Given the description of an element on the screen output the (x, y) to click on. 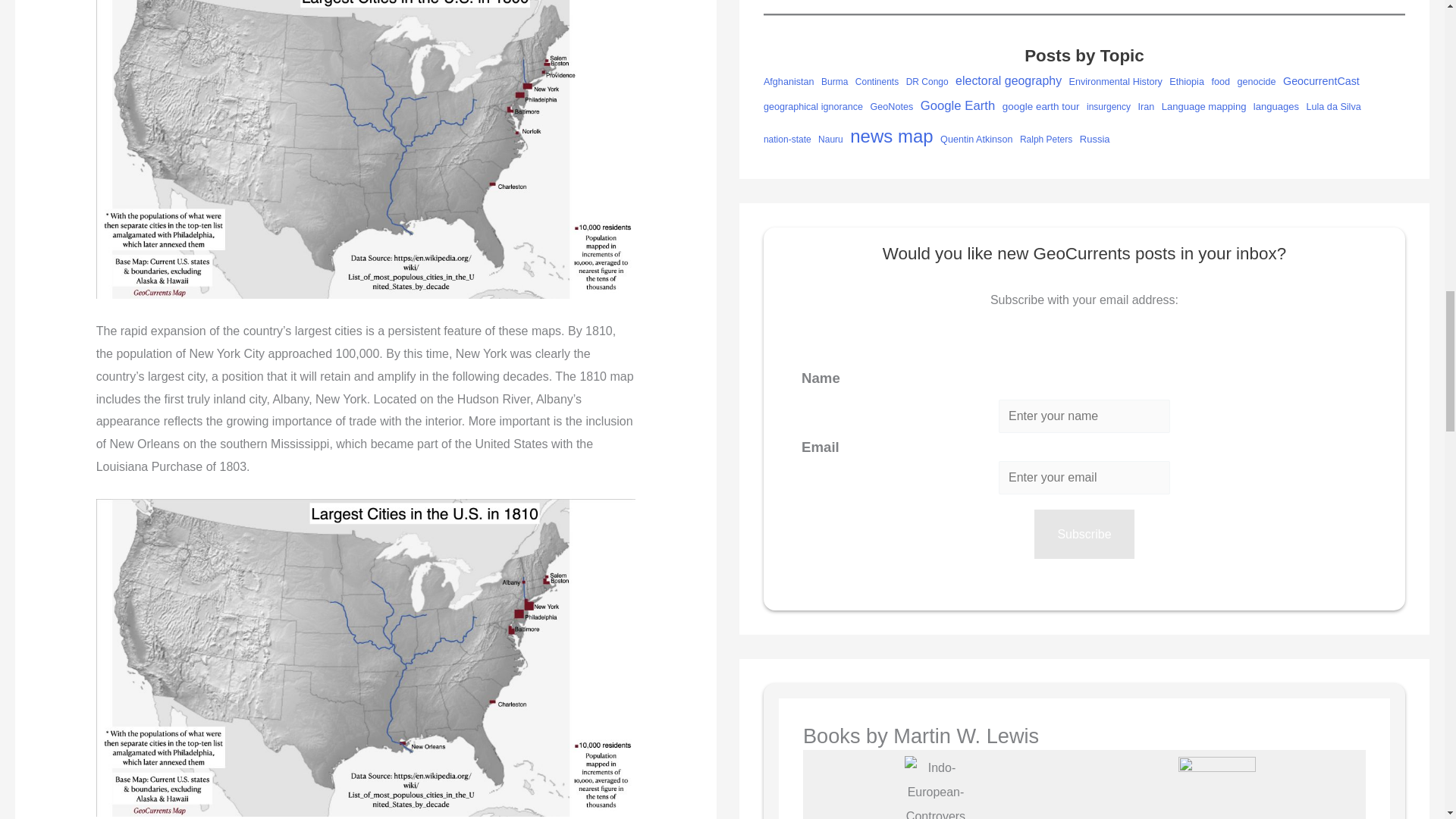
Subscribe (1083, 534)
Indo-European-Controversy by Asya Pereltsvaig Martin Lewis (935, 787)
diversity amid globalization martin lewis (1216, 787)
